Given the description of an element on the screen output the (x, y) to click on. 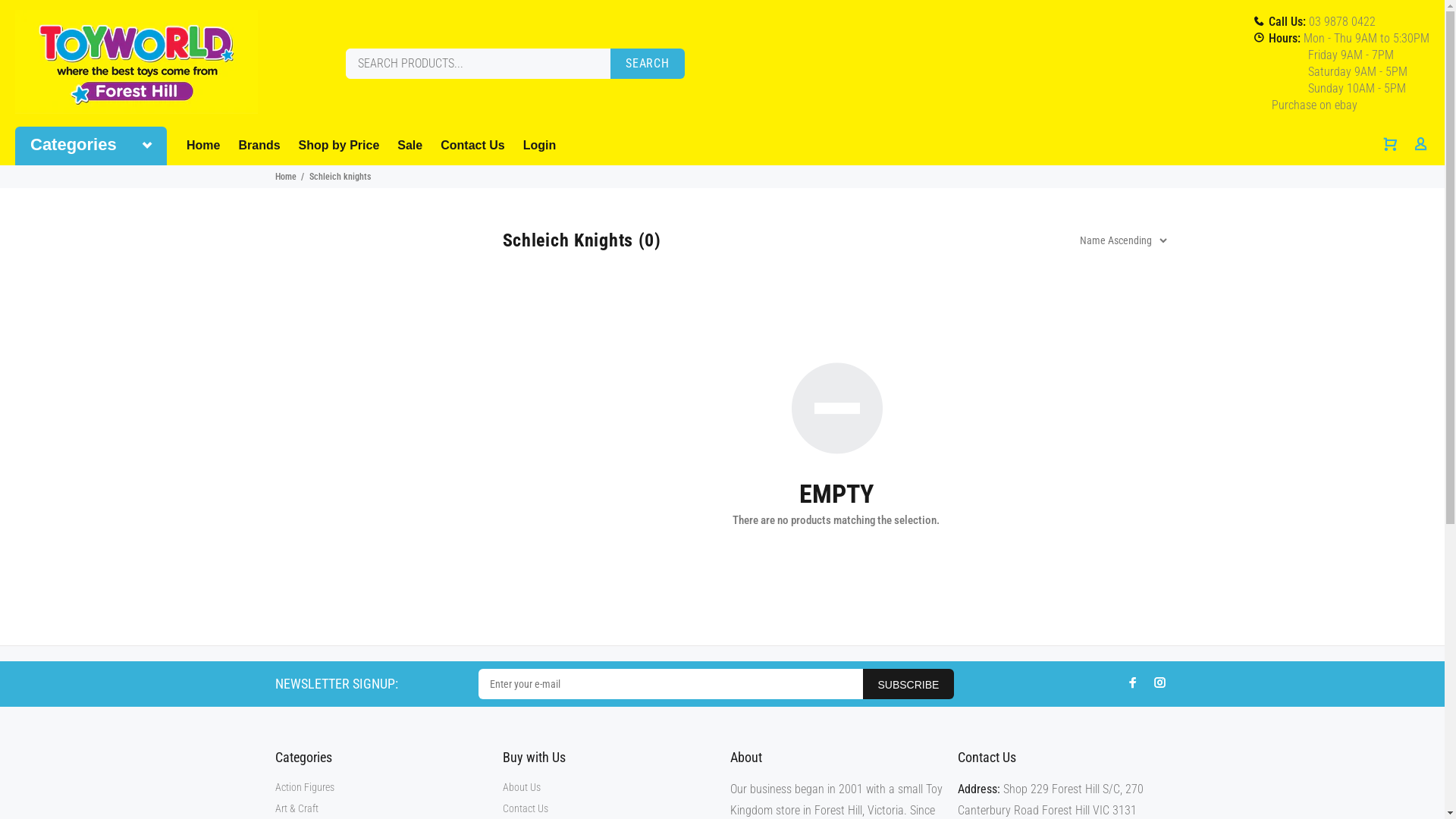
Purchase on ebay Element type: text (1315, 104)
Brands Element type: text (258, 145)
Sale Element type: text (409, 145)
SUBSCRIBE Element type: text (908, 683)
Action Figures Element type: text (303, 786)
Categories Element type: text (90, 145)
Shop by Price Element type: text (339, 145)
Home Element type: text (207, 145)
Login Element type: text (535, 145)
About Us Element type: text (520, 786)
Contact Us Element type: text (472, 145)
Home Element type: text (284, 176)
SEARCH Element type: text (647, 63)
